Given the description of an element on the screen output the (x, y) to click on. 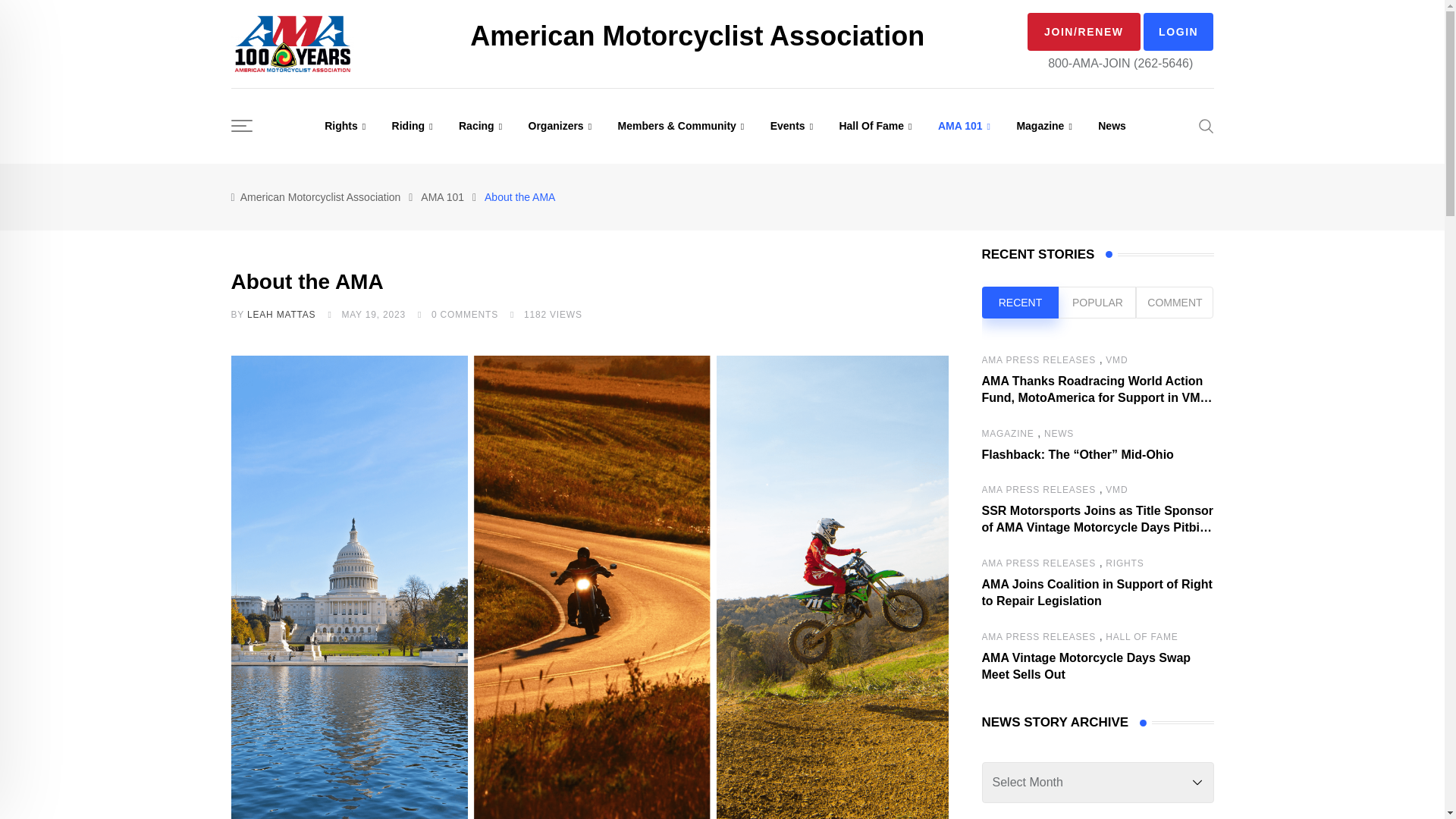
Posts by Leah Mattas (281, 314)
Search (1205, 125)
Go to American Motorcyclist Association. (320, 196)
Go to AMA 101. (442, 196)
LOGIN (1177, 31)
